Given the description of an element on the screen output the (x, y) to click on. 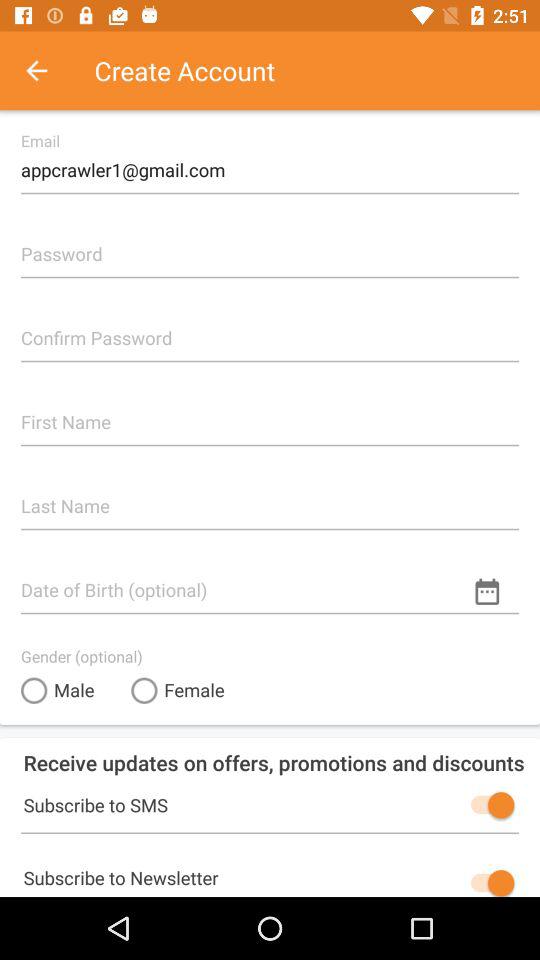
choose the item to the right of the male icon (177, 690)
